Given the description of an element on the screen output the (x, y) to click on. 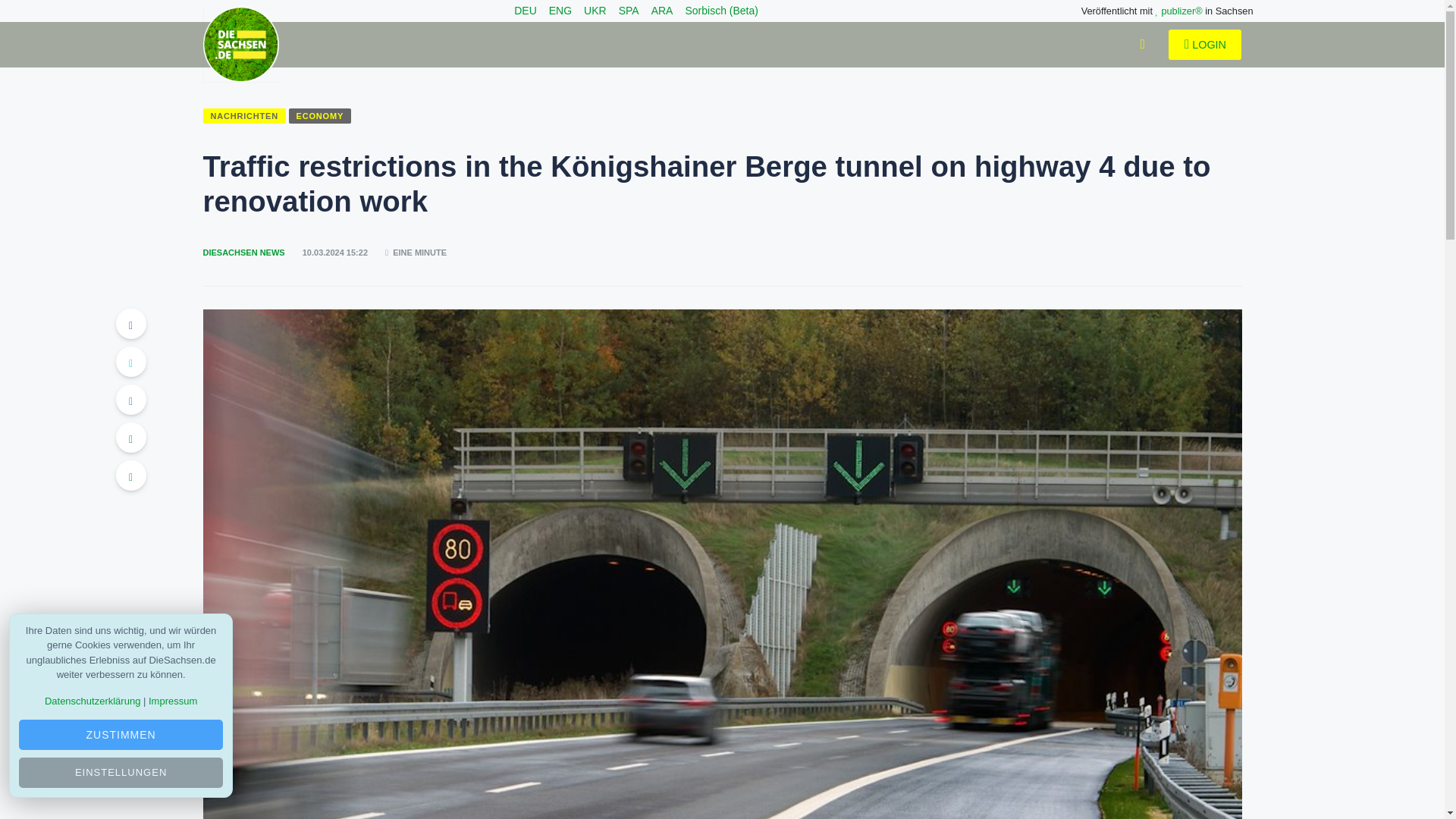
SPA (628, 10)
DEU (525, 10)
UKR (595, 10)
Nachrichten aus Sachsen in deiner Sprache: English (560, 10)
Nachrichten aus Sachsen in deiner Sprache: Deutsch (525, 10)
ENG (560, 10)
ARA (661, 10)
